Given the description of an element on the screen output the (x, y) to click on. 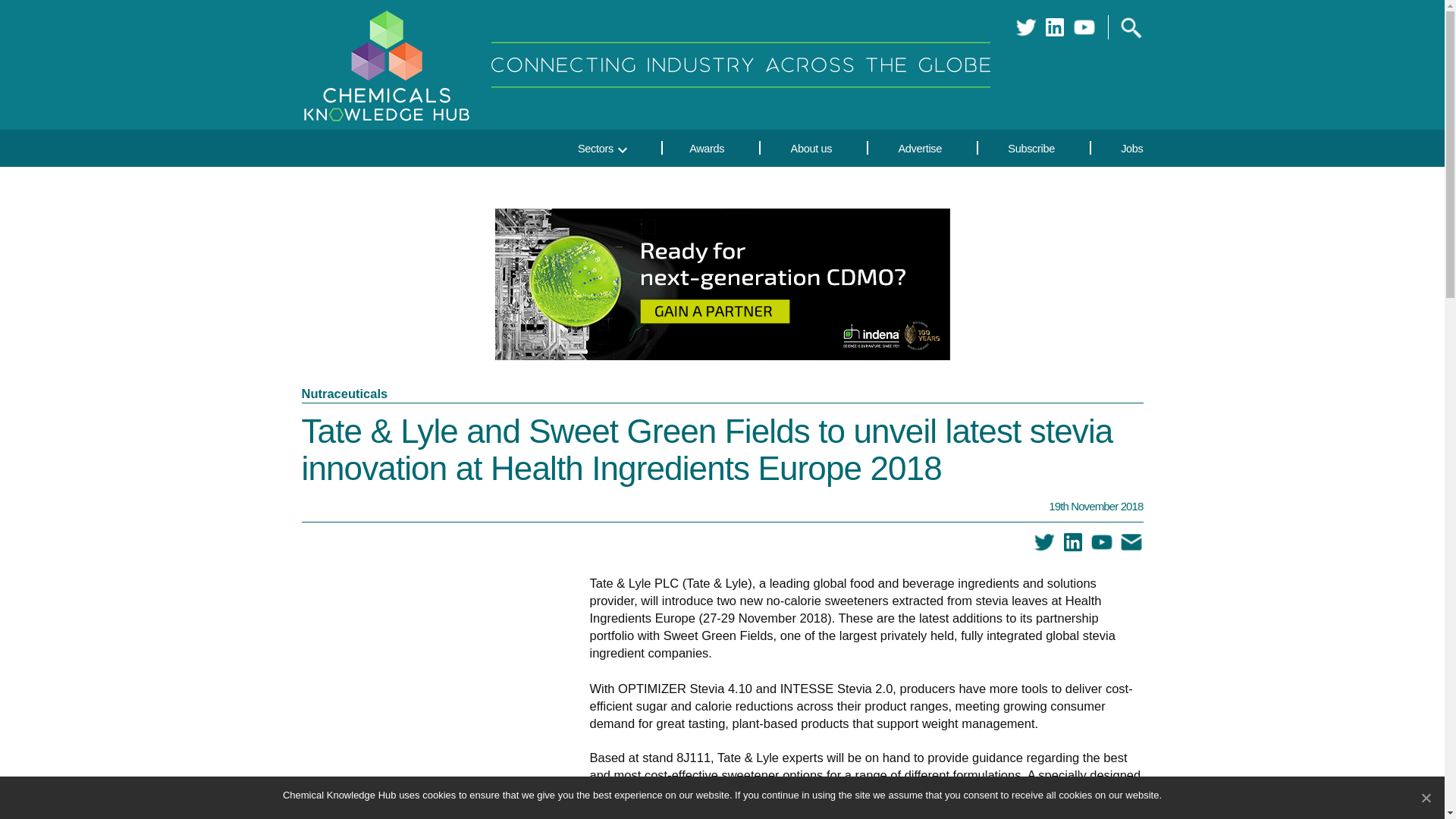
About us (811, 147)
Advertise (920, 147)
Sectors (581, 147)
linkedin (1072, 542)
email (1130, 542)
Jobs (1118, 147)
twitter (1044, 542)
Awards (706, 147)
youtube (1101, 542)
Subscribe (1031, 147)
twitter (1025, 27)
Linkedin (1054, 27)
youtube (1083, 27)
